Given the description of an element on the screen output the (x, y) to click on. 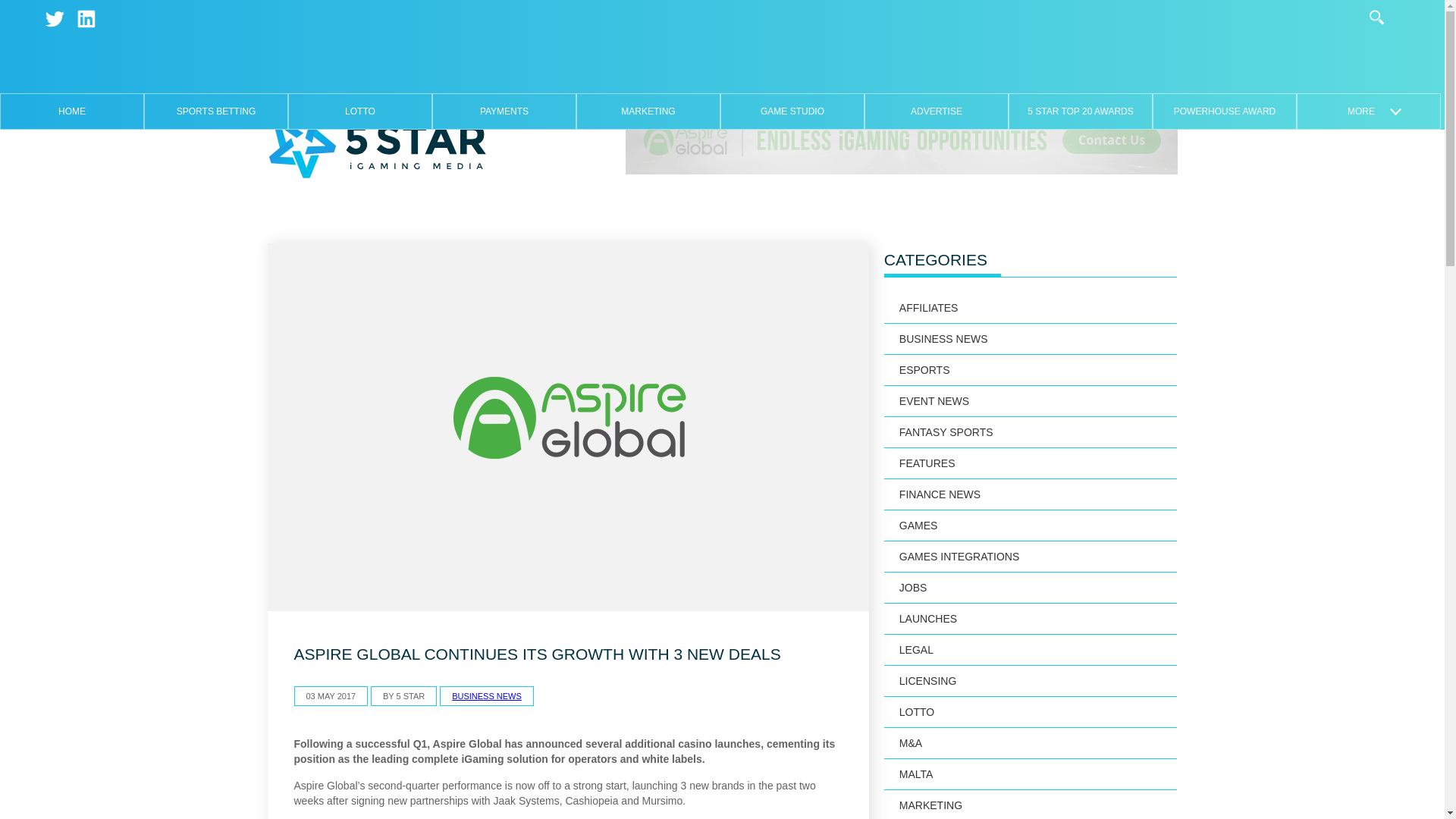
BUSINESS NEWS (1030, 338)
FANTASY SPORTS (1030, 432)
5 STAR TOP 20 AWARDS (1080, 111)
Twitter (54, 18)
HOME (71, 111)
MARKETING (647, 111)
BUSINESS NEWS (486, 696)
POWERHOUSE AWARD (1224, 111)
AFFILIATES (1030, 307)
LinkedIn (86, 18)
MORE       (1368, 111)
GAME STUDIO (791, 111)
SPORTS BETTING (215, 111)
EVENT NEWS (1030, 400)
PAYMENTS (503, 111)
